Given the description of an element on the screen output the (x, y) to click on. 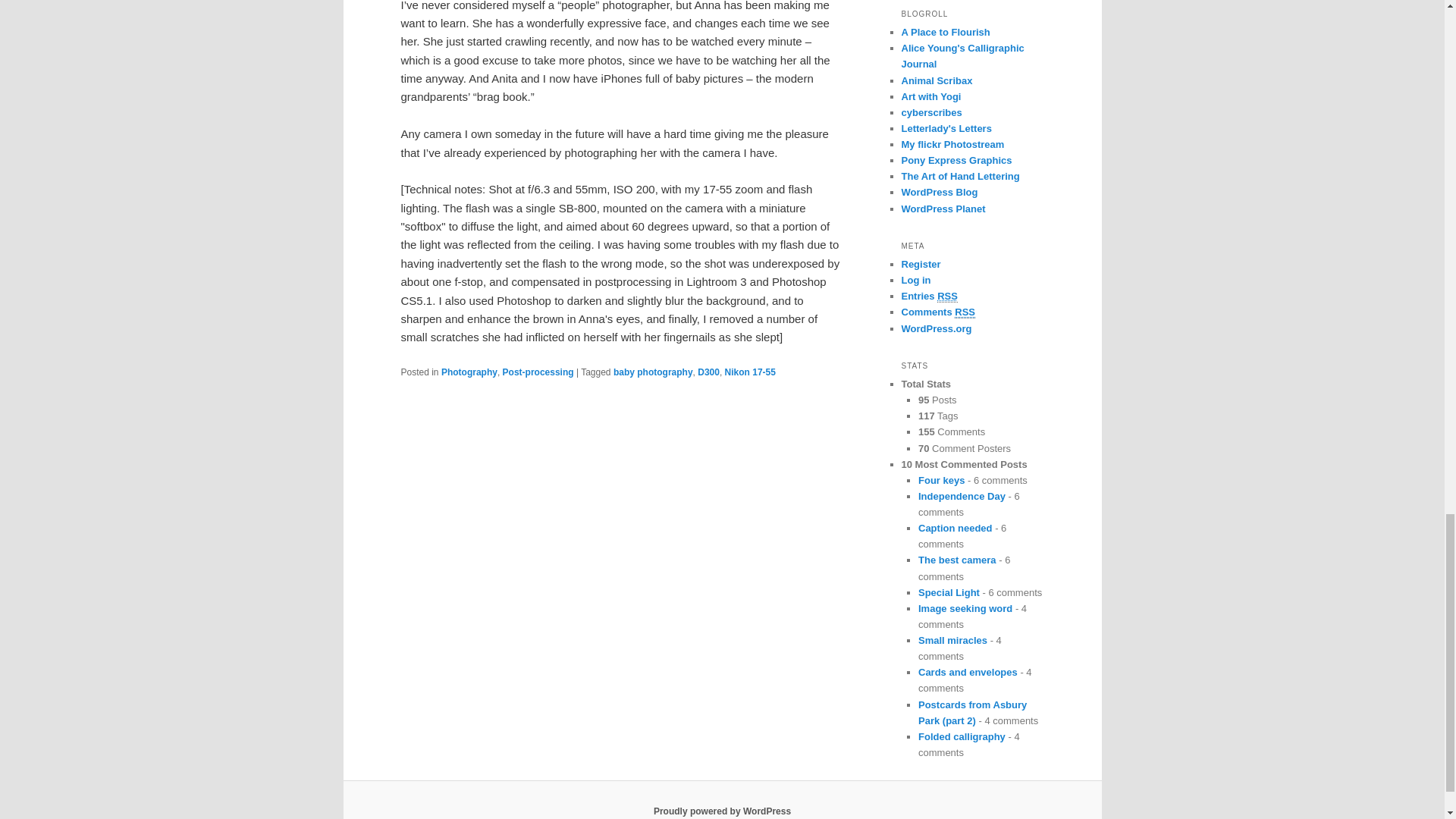
Post-processing (537, 371)
D300 (708, 371)
Nikon 17-55 (750, 371)
baby photography (652, 371)
View all posts in Post-processing (537, 371)
View all posts in Photography (469, 371)
Photography (469, 371)
